Given the description of an element on the screen output the (x, y) to click on. 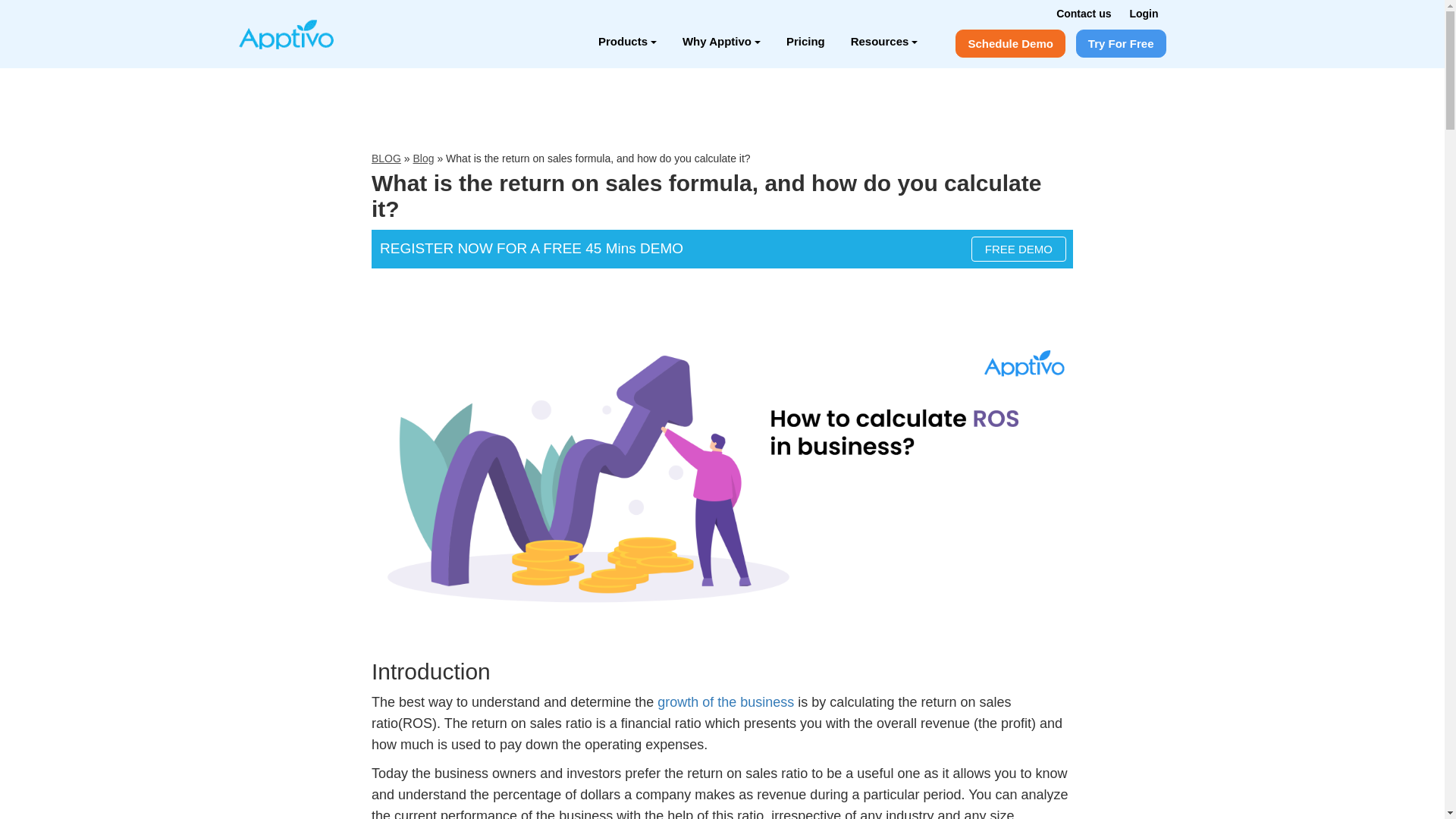
Products (627, 41)
Contact us (1083, 13)
Login (1143, 13)
